Given the description of an element on the screen output the (x, y) to click on. 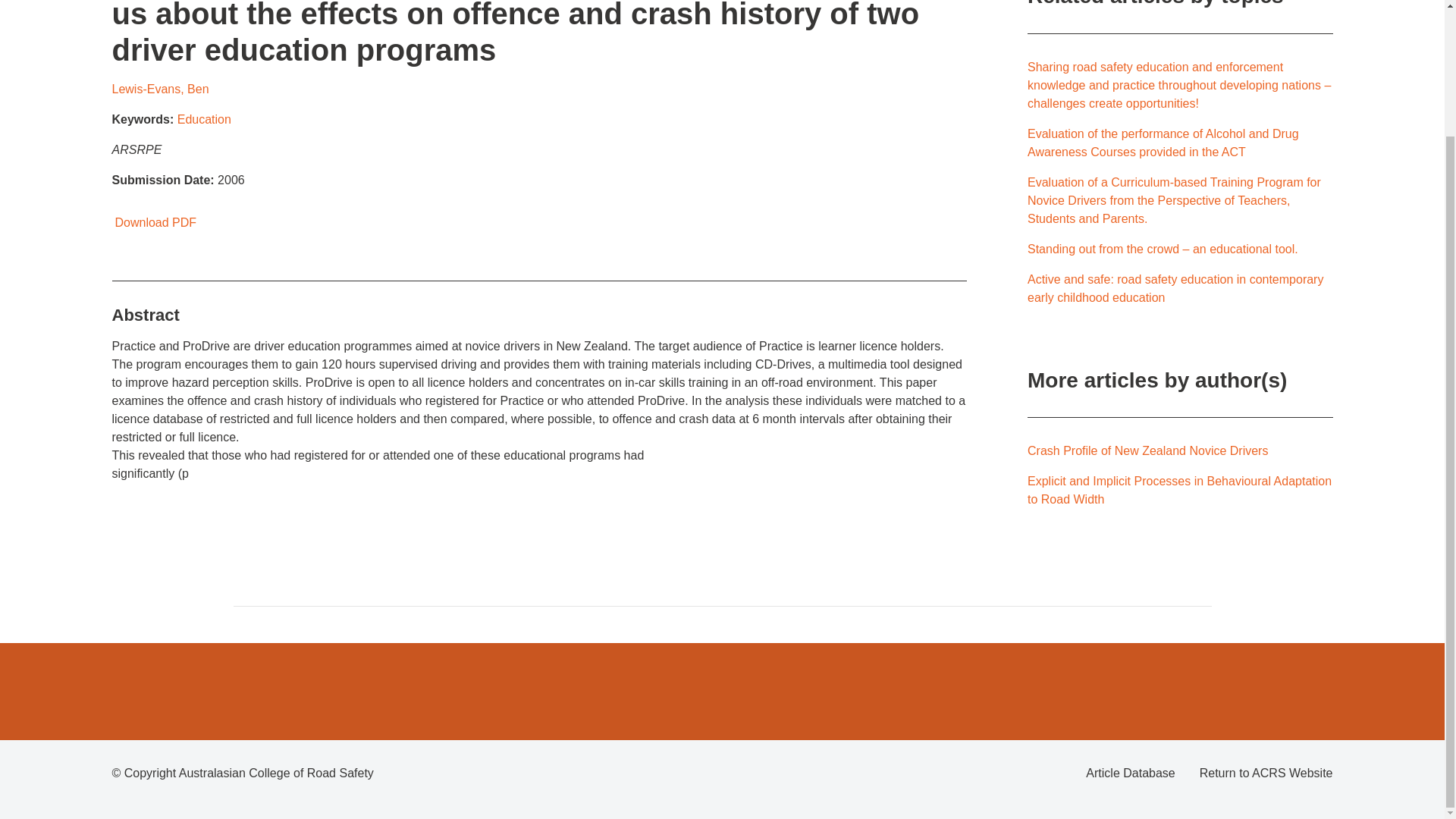
Download PDF (154, 222)
Crash Profile of New Zealand Novice Drivers (1147, 450)
Article Database (1130, 773)
Australasian College of Road Safety (276, 772)
Lewis-Evans, Ben (160, 88)
Return to ACRS Website (1266, 773)
